Given the description of an element on the screen output the (x, y) to click on. 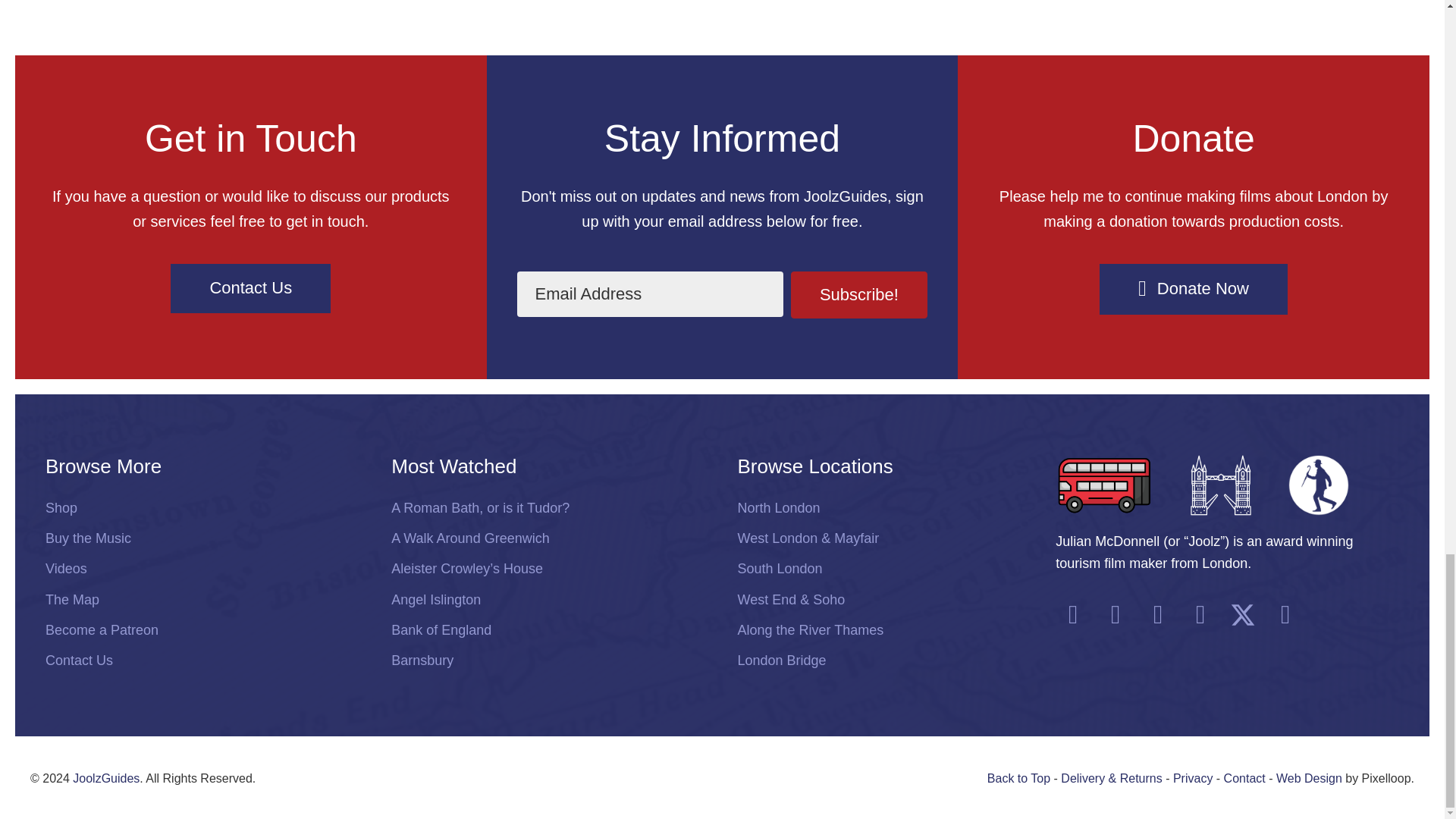
LinkedIn (1285, 614)
Contact Us (203, 660)
The Map (203, 600)
Subscribe! (859, 294)
Barnsbury (548, 660)
Bank of England (548, 630)
Instagram (1114, 614)
A Roman Bath, or is it Tudor? (548, 508)
Videos (203, 568)
A Walk Around Greenwich (548, 538)
